Given the description of an element on the screen output the (x, y) to click on. 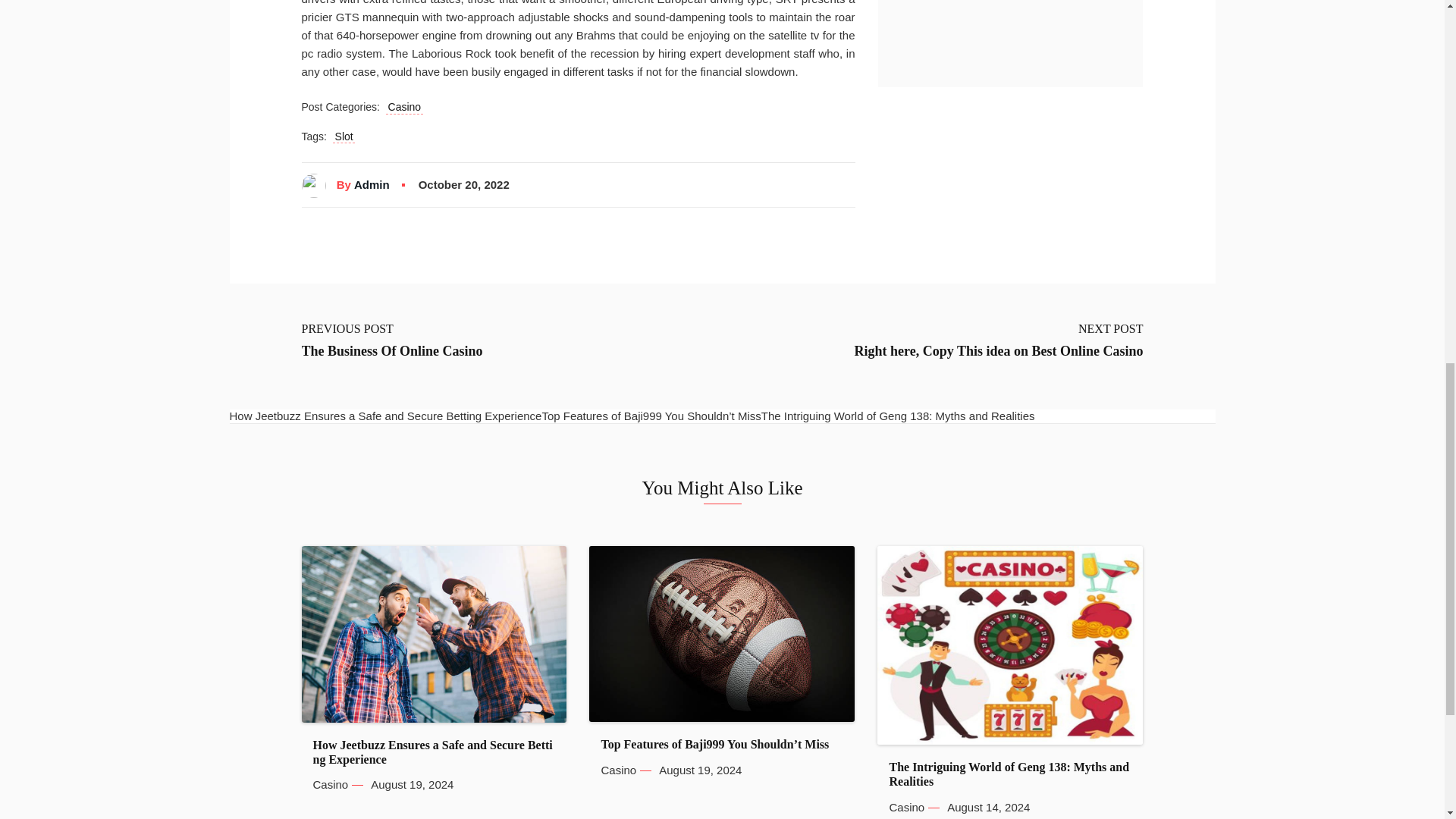
How Jeetbuzz Ensures a Safe and Secure Betting Experience (433, 751)
Slot (344, 137)
Right here, Copy This idea on Best Online Casino (998, 351)
August 19, 2024 (411, 784)
Admin (371, 184)
The Business Of Online Casino (392, 351)
Casino (330, 784)
Casino (404, 107)
